Given the description of an element on the screen output the (x, y) to click on. 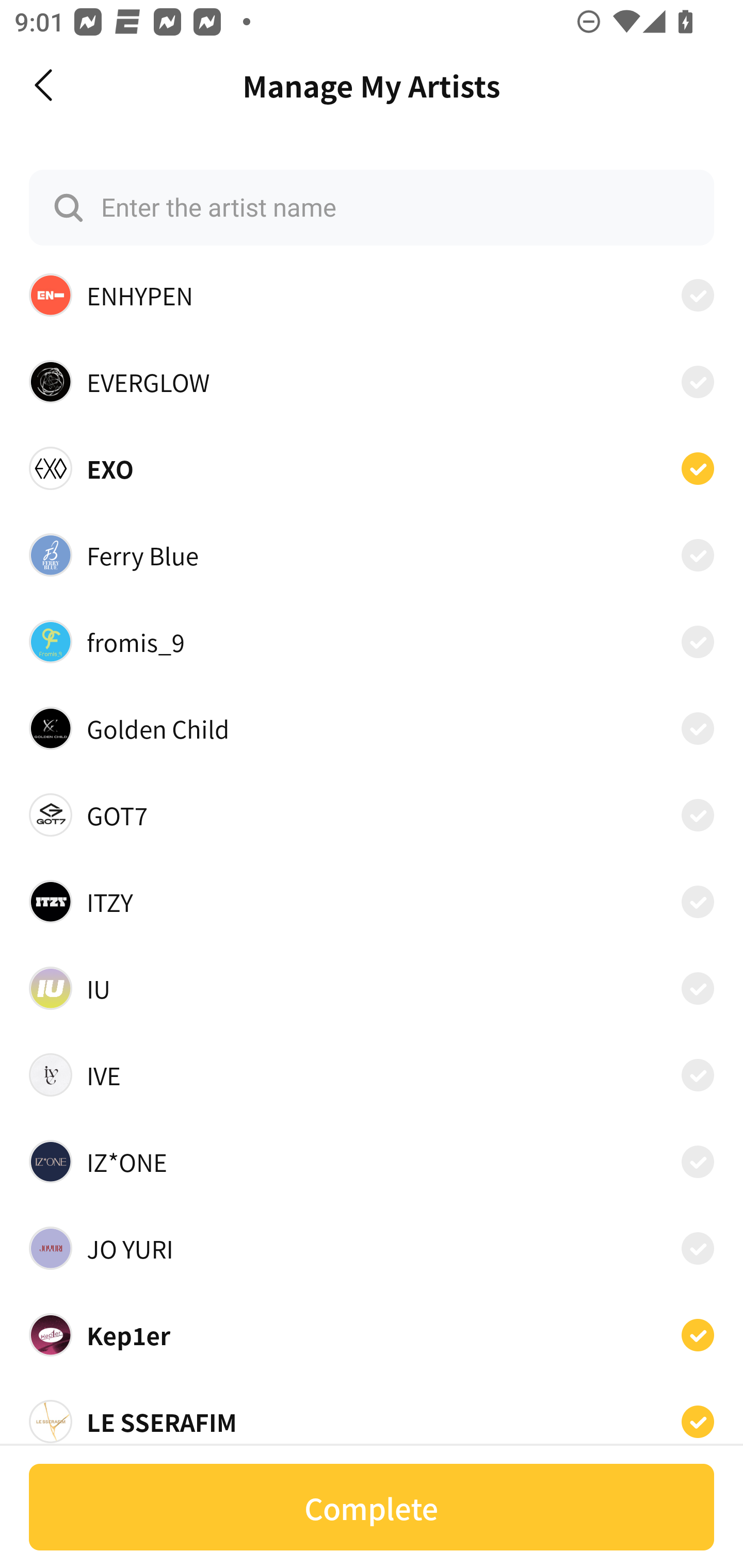
Enter the artist name (371, 207)
ENHYPEN (371, 294)
EVERGLOW (371, 381)
EXO (371, 467)
Ferry Blue (371, 555)
fromis_9 (371, 641)
Golden Child (371, 728)
GOT7 (371, 815)
ITZY (371, 901)
IU (371, 987)
IVE (371, 1074)
IZ*ONE (371, 1161)
JO YURI (371, 1248)
Kep1er (371, 1334)
LE SSERAFIM (371, 1421)
Complete (371, 1507)
